Given the description of an element on the screen output the (x, y) to click on. 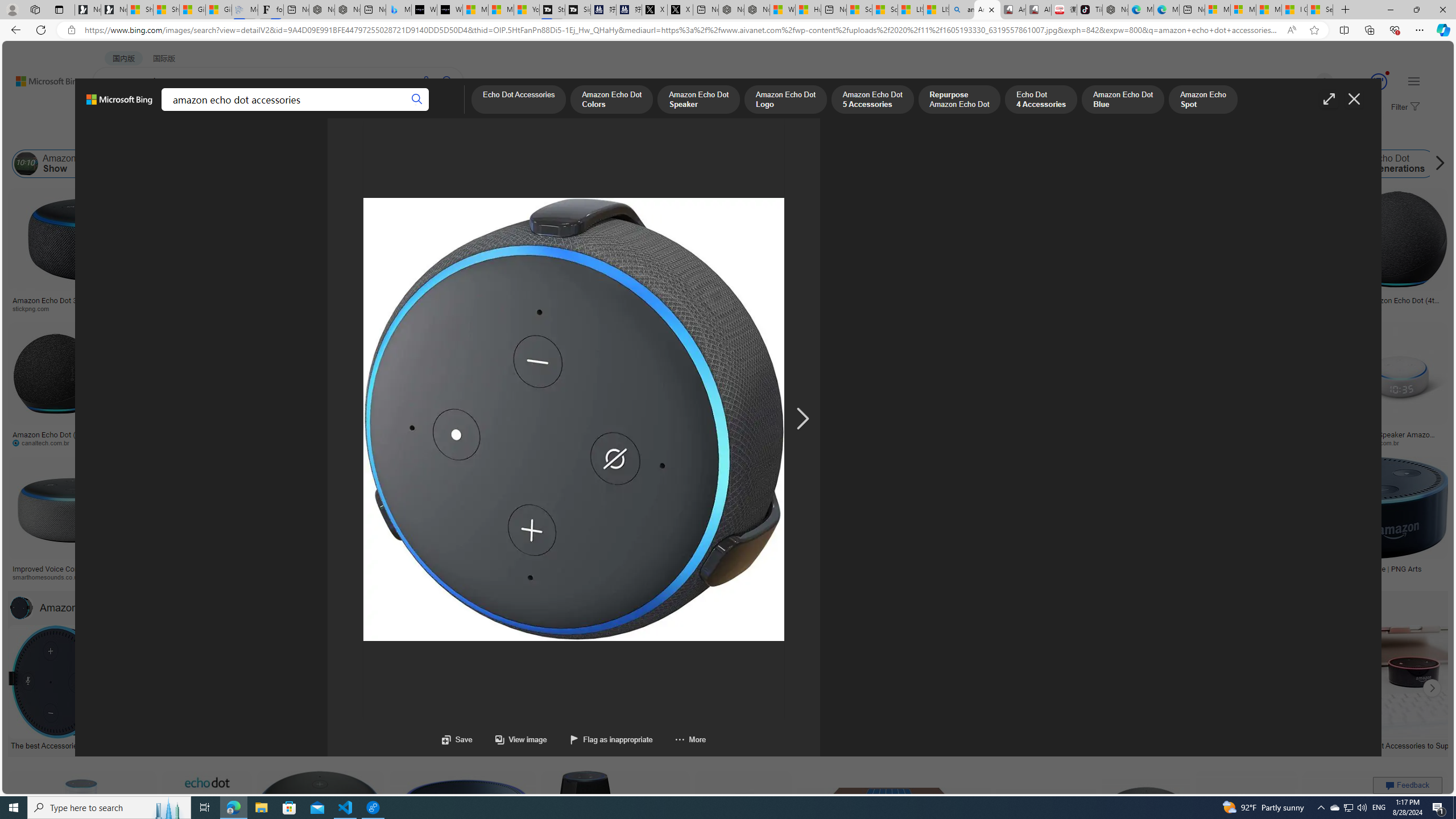
Nordace - Summer Adventures 2024 (756, 9)
X (679, 9)
Amazon Echo 2nd Generation (568, 163)
Amazon Echo Dot Colors (611, 100)
security.org (167, 576)
Back to Bing search (41, 78)
Click to scroll right (1431, 687)
